Given the description of an element on the screen output the (x, y) to click on. 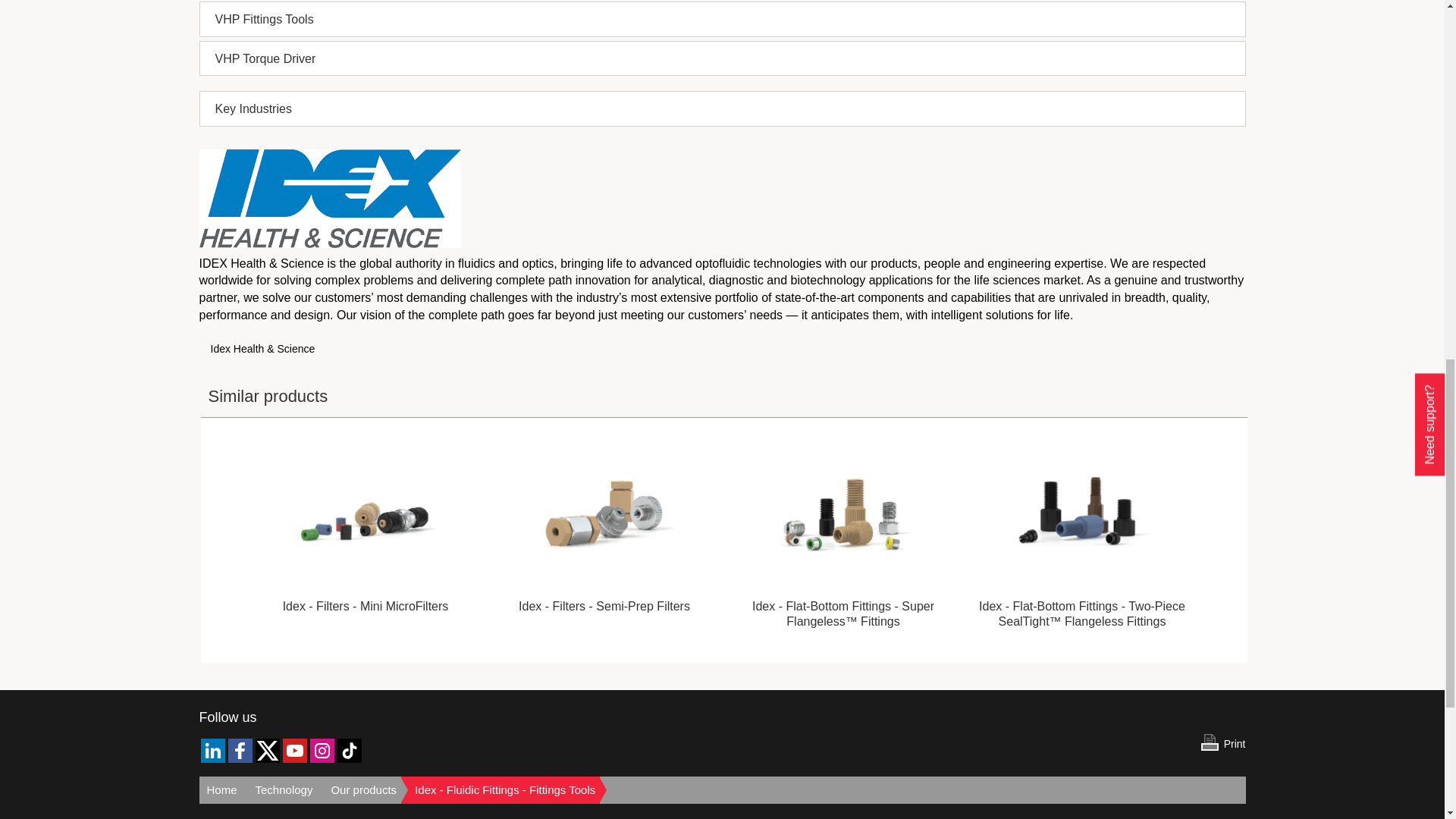
LinkedIn (212, 750)
TikTok (348, 750)
YouTube (293, 750)
Facebook (239, 750)
Instagram (320, 750)
Twitter (266, 750)
